Given the description of an element on the screen output the (x, y) to click on. 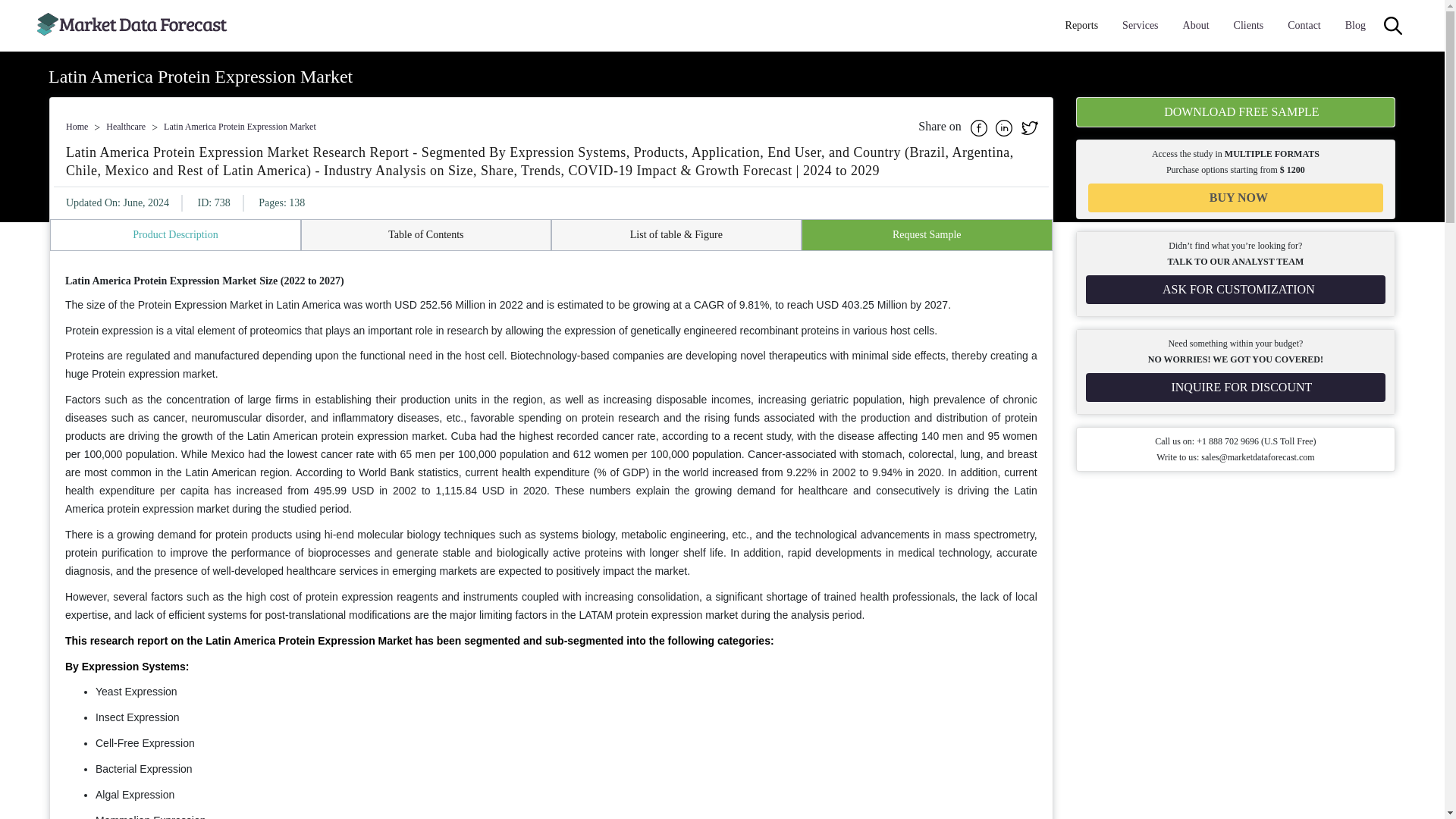
Home (76, 126)
Contact (1303, 25)
Healthcare (125, 126)
Linkedin (1004, 126)
Latin America Protein Expression Market (239, 126)
Reports (1082, 25)
Blog (1355, 25)
Table of Contents (425, 235)
Request Sample (926, 235)
About (1195, 25)
